Given the description of an element on the screen output the (x, y) to click on. 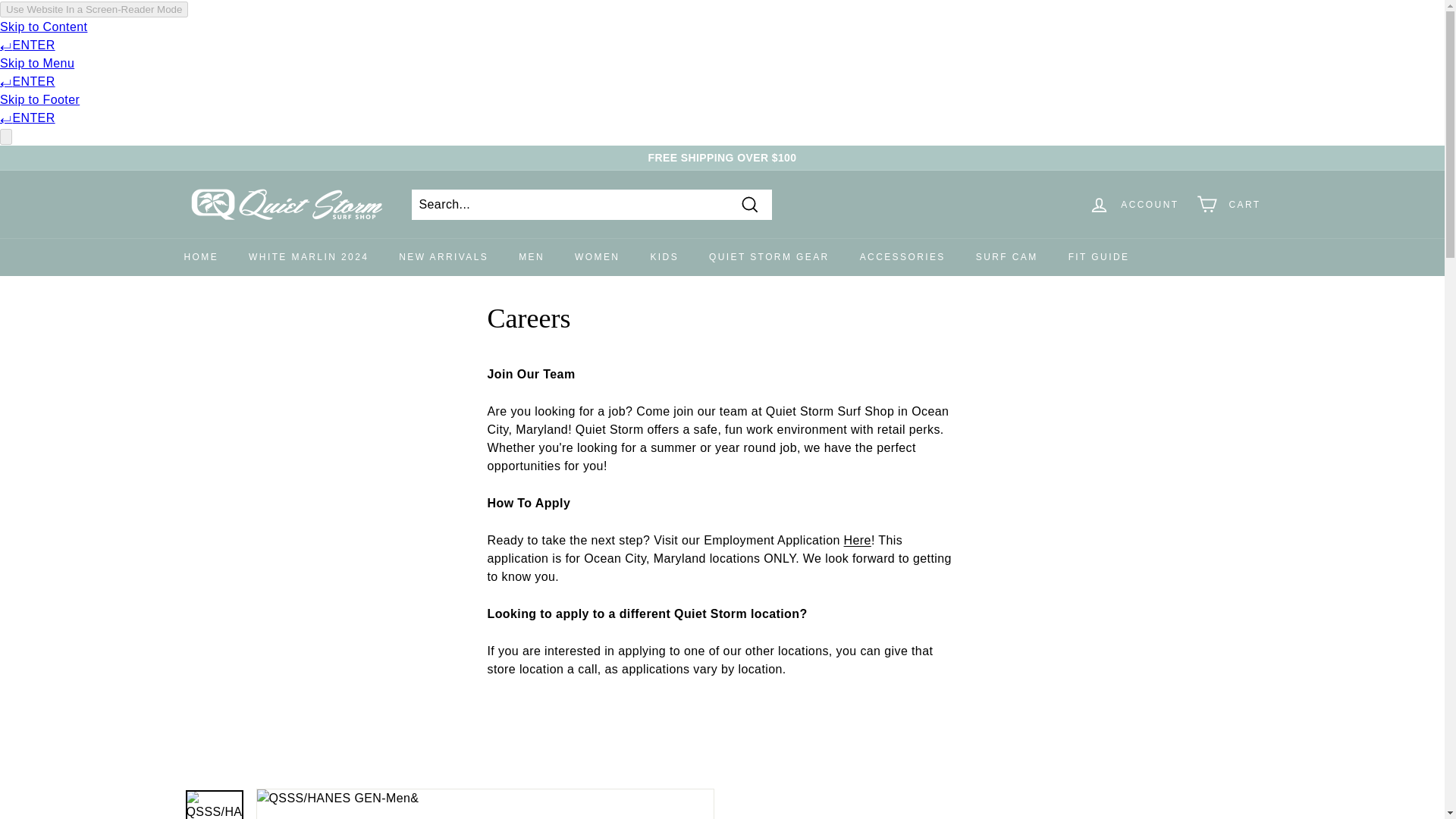
QUIET STORM GEAR (769, 257)
WHITE MARLIN 2024 (308, 257)
KIDS (664, 257)
ACCOUNT (1134, 203)
Quiet Storm Job Application (857, 540)
WOMEN (596, 257)
MEN (531, 257)
HOME (200, 257)
NEW ARRIVALS (443, 257)
